Given the description of an element on the screen output the (x, y) to click on. 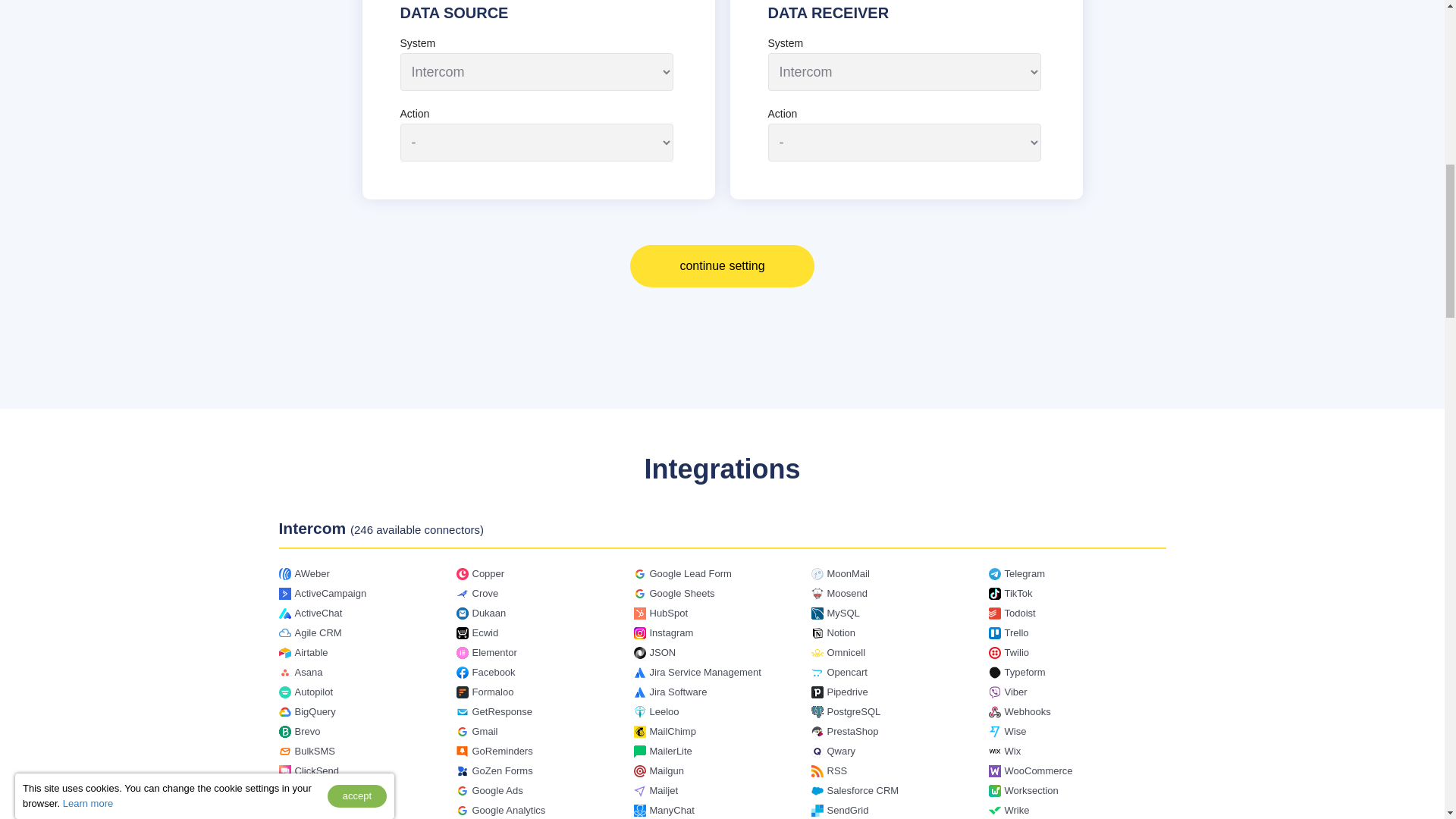
Intercom and Google Sheets integration (681, 593)
continue setting (721, 265)
Intercom and Crove integration (484, 593)
Intercom and Telegram integration (1023, 573)
Google Sheets (681, 593)
Copper (487, 573)
Crove (484, 593)
continue setting (721, 265)
AWeber (311, 573)
Intercom and AWeber integration (311, 573)
ActiveChat (318, 613)
Moosend (846, 593)
Intercom and ActiveCampaign integration (330, 593)
Intercom and MoonMail integration (848, 573)
MoonMail (848, 573)
